Given the description of an element on the screen output the (x, y) to click on. 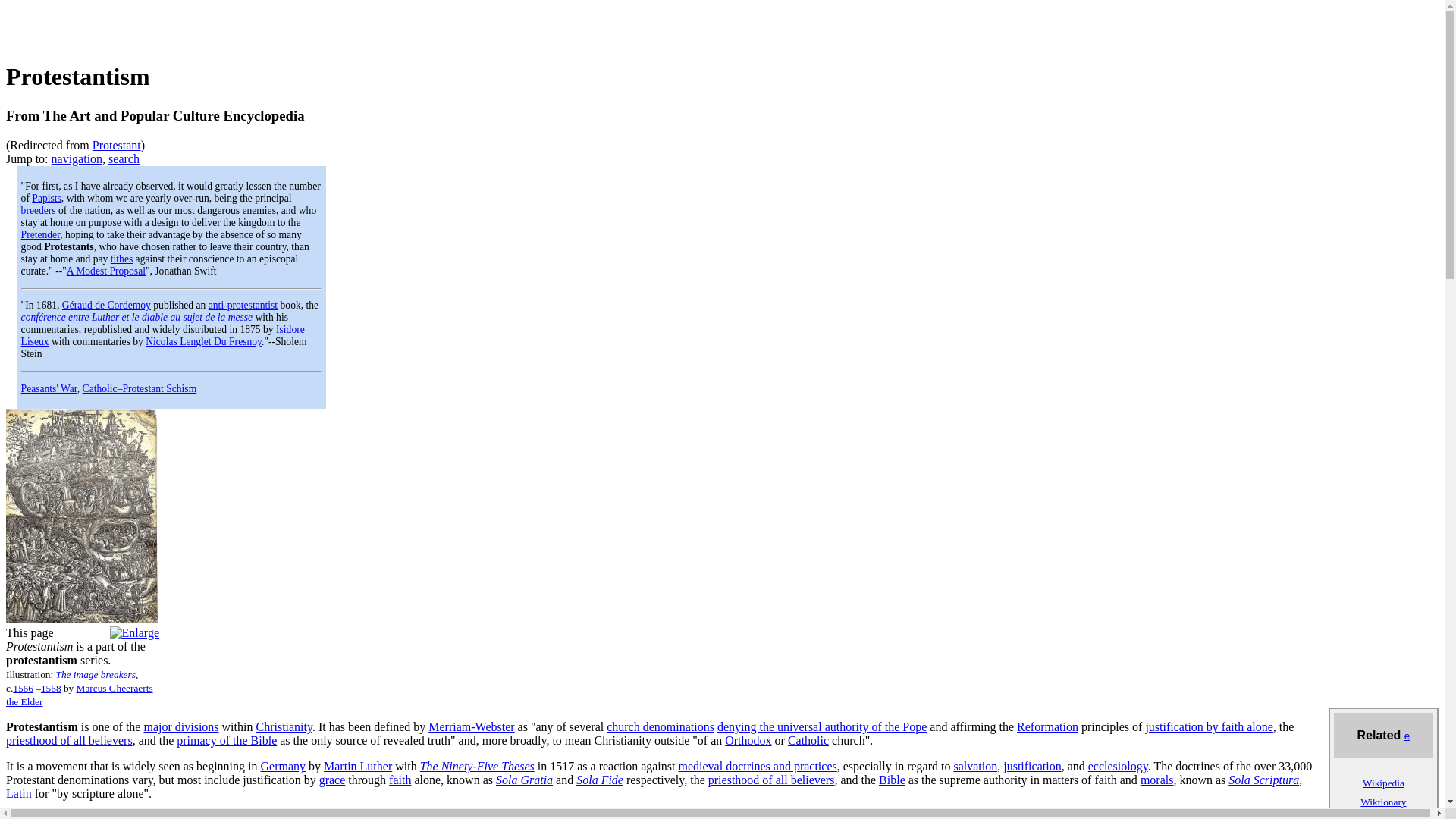
Protestant (117, 144)
Anti-Protestantism (243, 305)
church denominations (660, 726)
James Francis Edward Stuart (41, 234)
Peasants' War (49, 388)
Isidore Liseux (162, 335)
Protestant (117, 144)
denying the universal authority of the Pope (821, 726)
Nicolas Lenglet Du Fresnoy (203, 341)
search (123, 158)
